Given the description of an element on the screen output the (x, y) to click on. 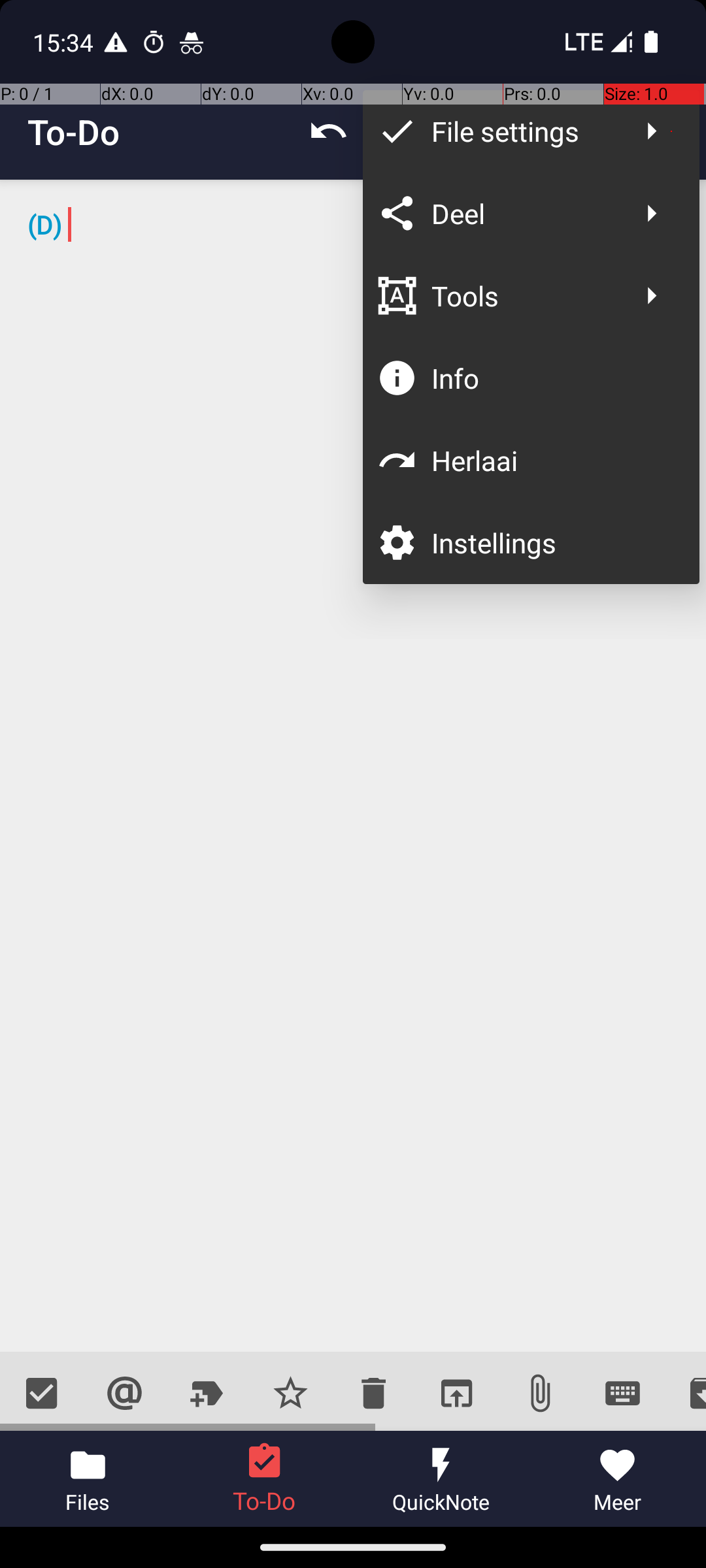
File settings Element type: android.widget.TextView (524, 130)
Deel Element type: android.widget.TextView (524, 212)
Tools Element type: android.widget.TextView (524, 295)
Info Element type: android.widget.TextView (551, 377)
Herlaai Element type: android.widget.TextView (551, 459)
Instellings Element type: android.widget.TextView (551, 542)
Chrome notification: Incognito Tabs Element type: android.widget.ImageView (191, 41)
